Given the description of an element on the screen output the (x, y) to click on. 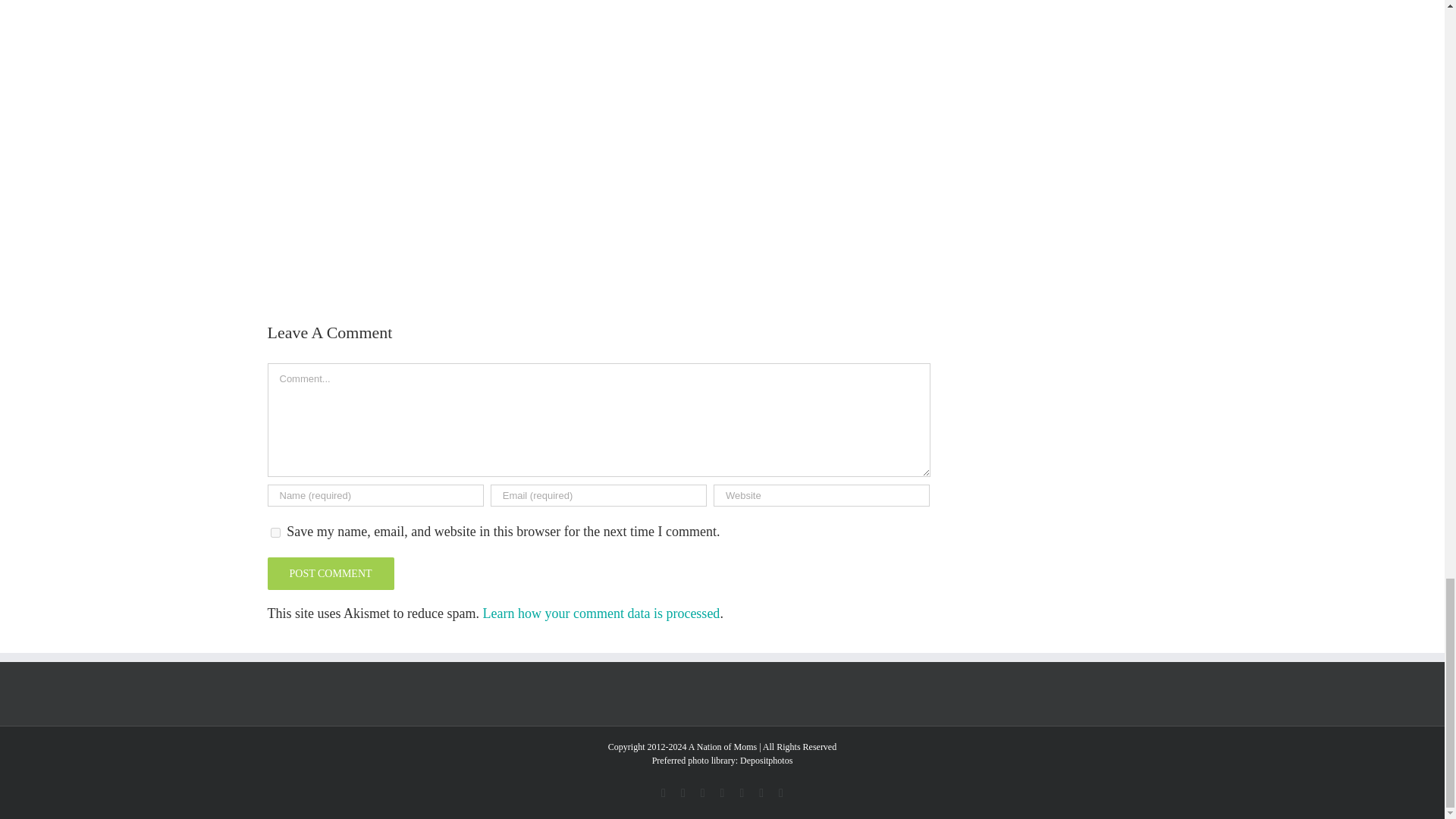
Post Comment (329, 573)
yes (274, 532)
